Given the description of an element on the screen output the (x, y) to click on. 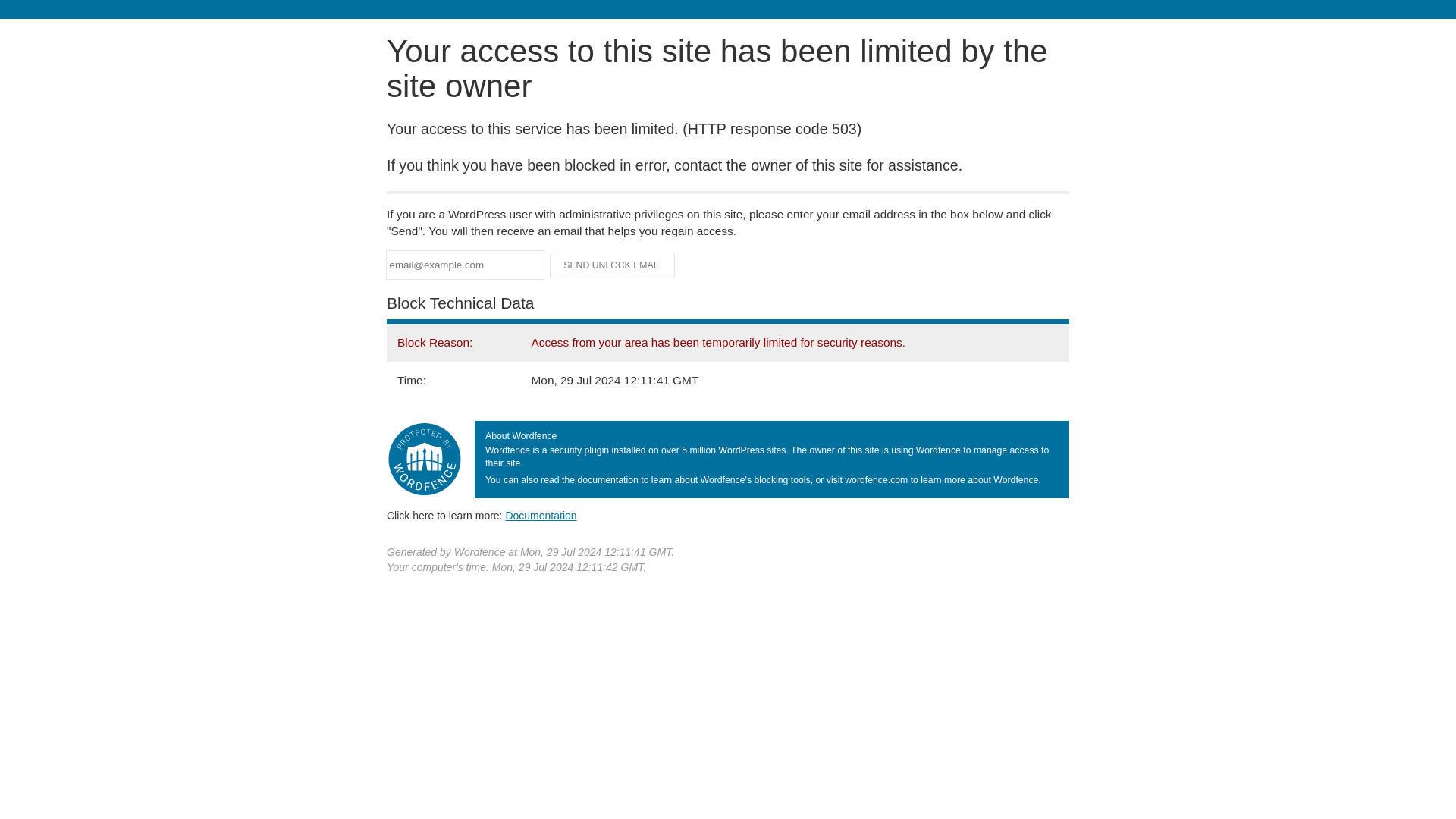
Send Unlock Email (612, 265)
Documentation (540, 515)
Send Unlock Email (612, 265)
